Given the description of an element on the screen output the (x, y) to click on. 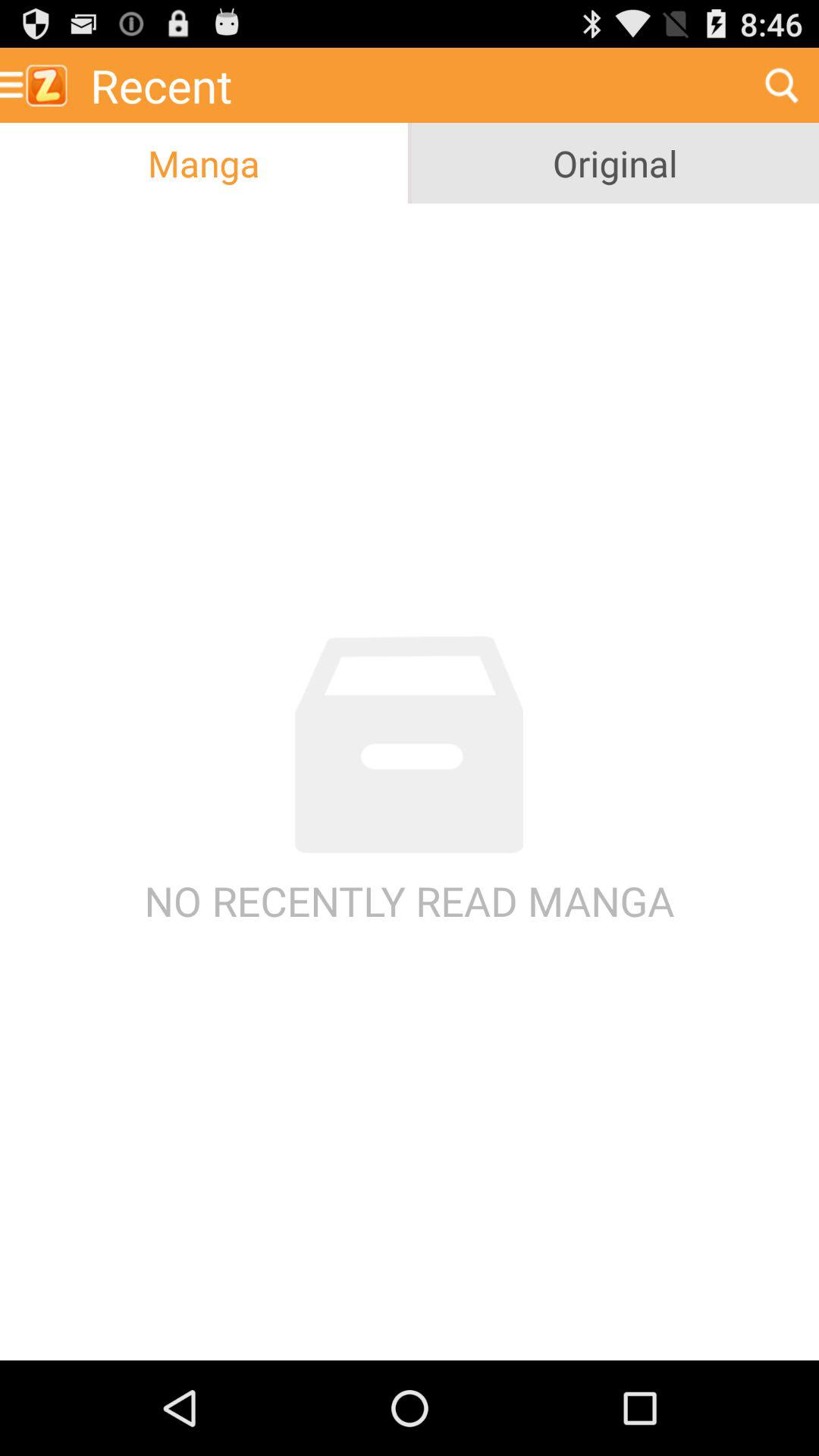
press icon to the left of recent item (40, 84)
